Given the description of an element on the screen output the (x, y) to click on. 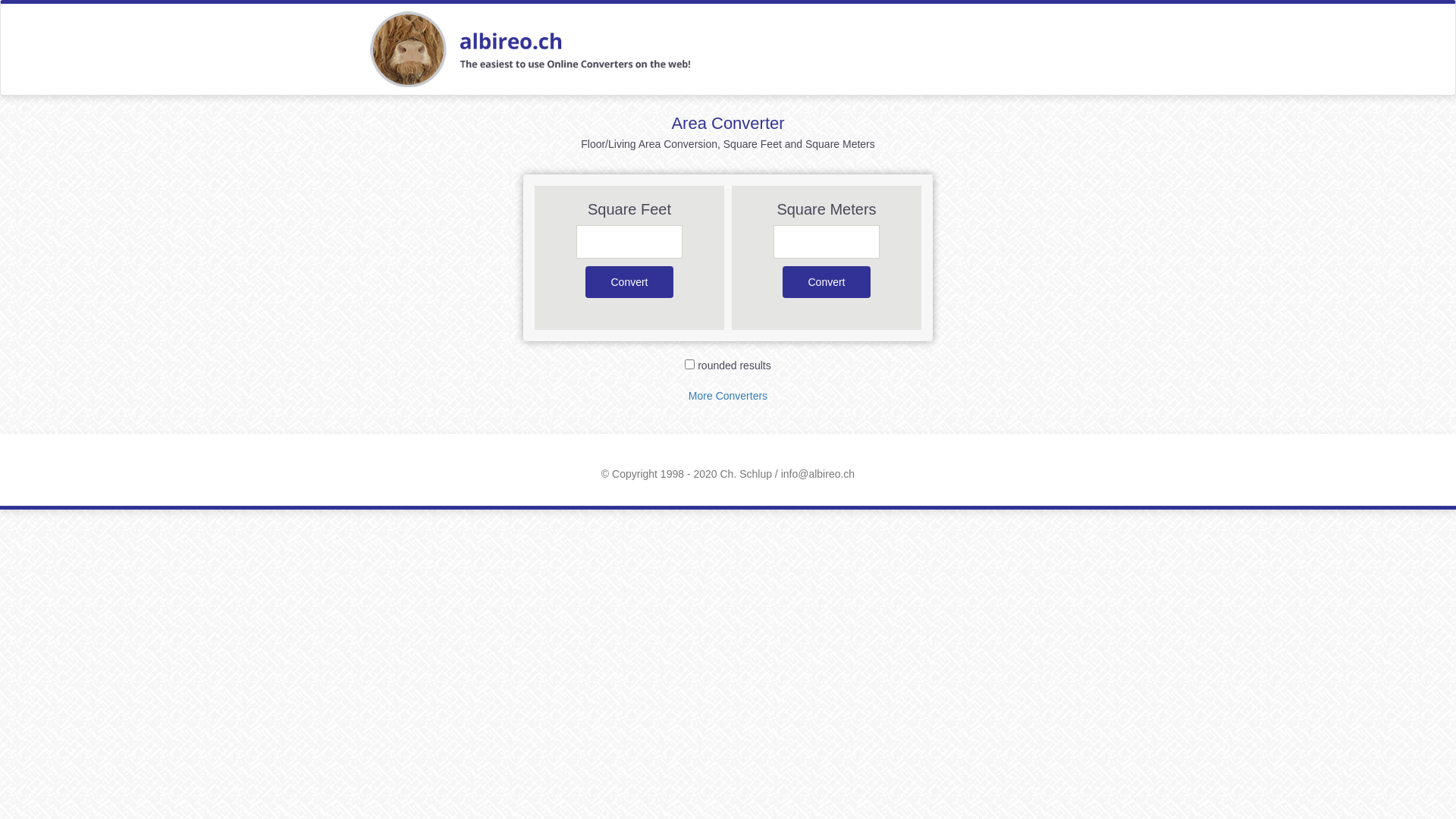
Convert Element type: text (826, 282)
Convert Element type: text (629, 282)
More Converters Element type: text (727, 395)
